Given the description of an element on the screen output the (x, y) to click on. 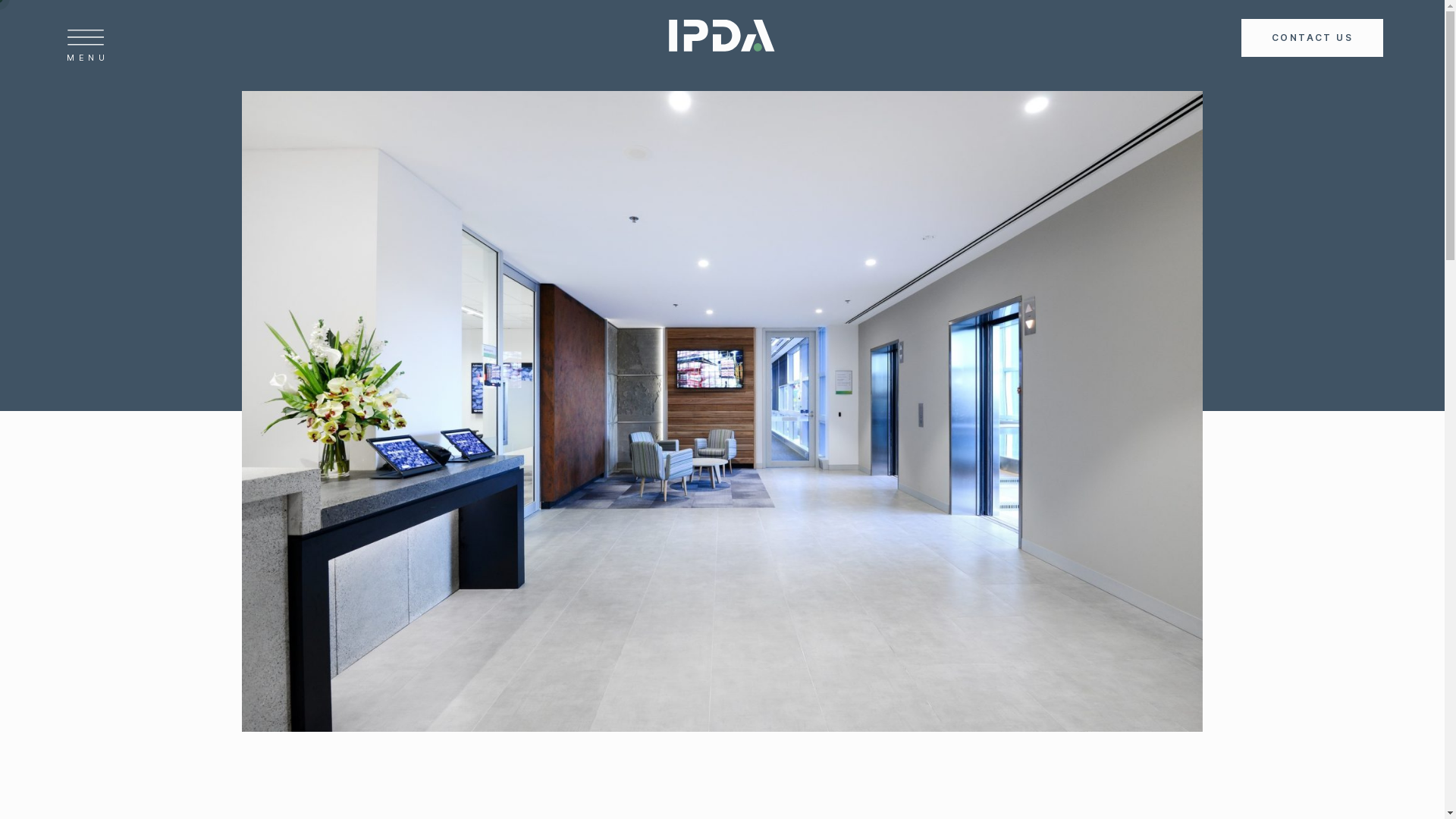
CONTACT US Element type: text (1311, 37)
MENU Element type: text (282, 48)
